Given the description of an element on the screen output the (x, y) to click on. 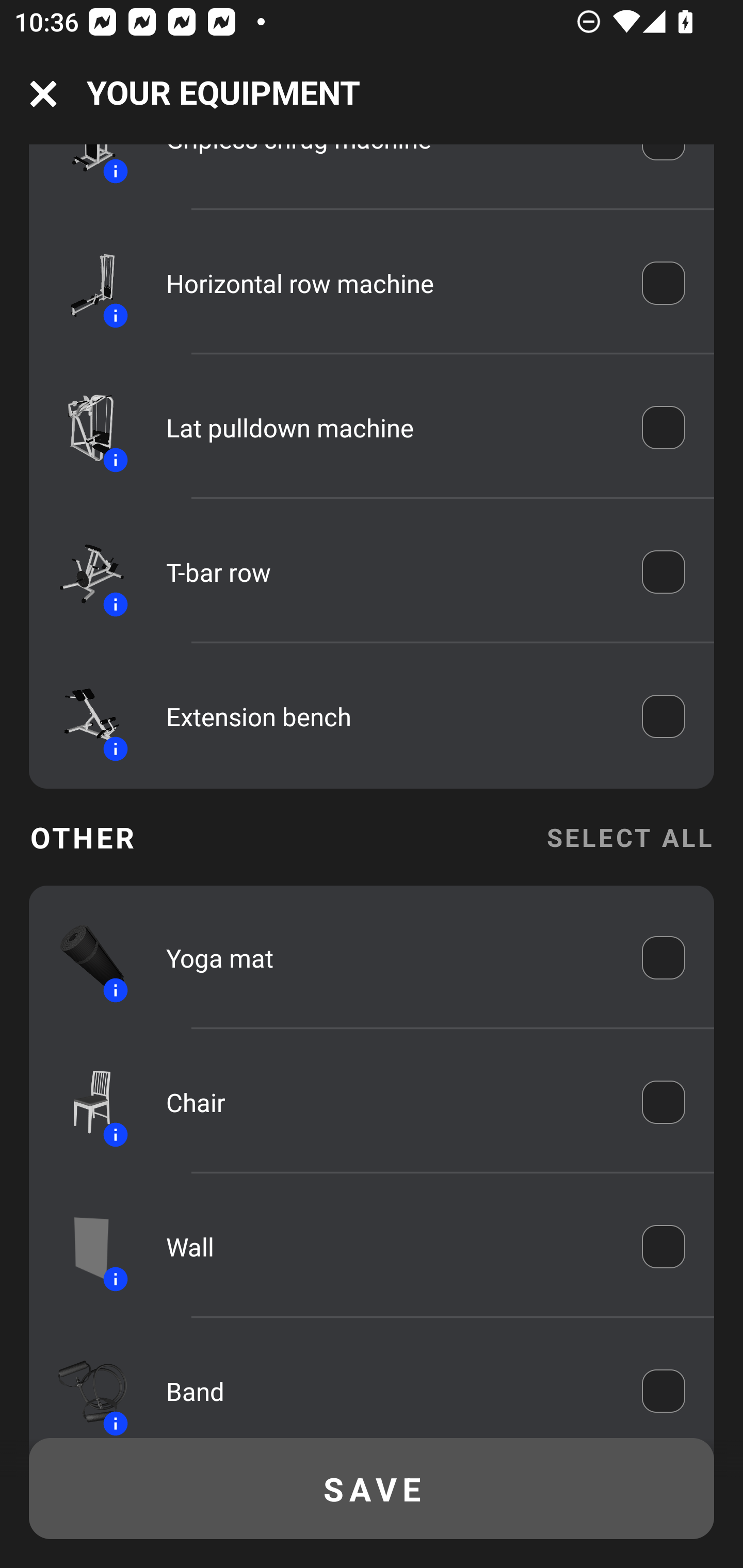
Navigation icon (43, 93)
Equipment icon Information icon (82, 282)
Horizontal row machine (389, 282)
Equipment icon Information icon (82, 427)
Lat pulldown machine (389, 427)
Equipment icon Information icon (82, 571)
T-bar row (389, 571)
Equipment icon Information icon (82, 715)
Extension bench (389, 716)
SELECT ALL (629, 837)
Equipment icon Information icon (82, 957)
Yoga mat (389, 957)
Equipment icon Information icon (82, 1102)
Chair (389, 1102)
Equipment icon Information icon (82, 1247)
Wall (389, 1246)
Equipment icon Information icon (82, 1387)
Band (389, 1391)
SAVE (371, 1488)
